Given the description of an element on the screen output the (x, y) to click on. 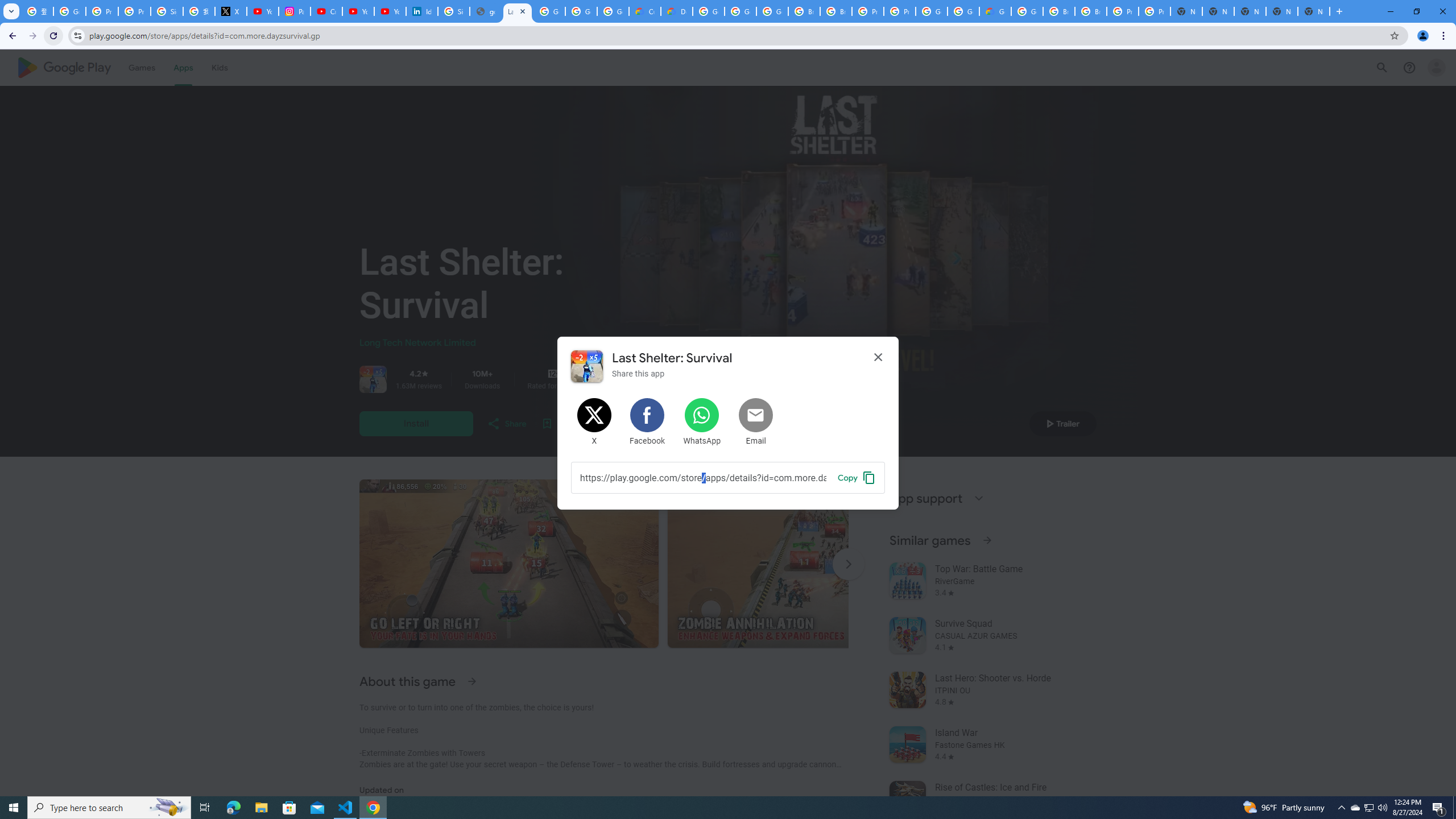
Privacy Help Center - Policies Help (101, 11)
Browse Chrome as a guest - Computer - Google Chrome Help (1091, 11)
Sign in - Google Accounts (166, 11)
Copy link to clipboard (703, 477)
Sign in - Google Accounts (453, 11)
Google Cloud Platform (1027, 11)
